Given the description of an element on the screen output the (x, y) to click on. 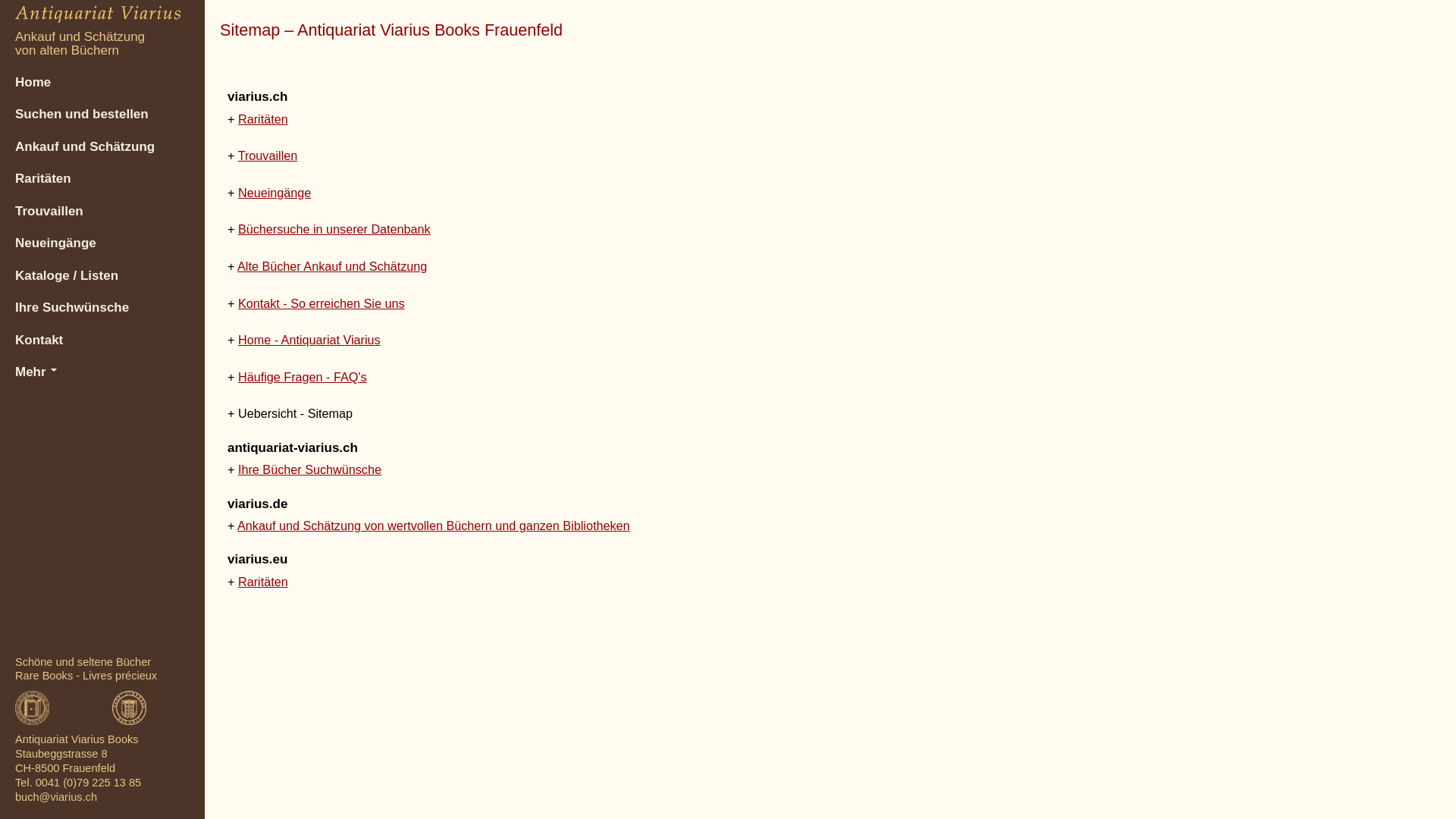
Trouvaillen Element type: text (102, 217)
Mehr Element type: text (102, 378)
Trouvaillen Element type: text (268, 155)
Home Element type: text (102, 88)
Kataloge / Listen Element type: text (102, 282)
Kontakt - So erreichen Sie uns Element type: text (321, 303)
buch@viarius.ch Element type: text (56, 796)
Suchen und bestellen Element type: text (102, 120)
Kontakt Element type: text (102, 346)
International League of Antiquarian Booksellers Element type: hover (113, 706)
Home - Antiquariat Viarius Element type: text (309, 339)
